Given the description of an element on the screen output the (x, y) to click on. 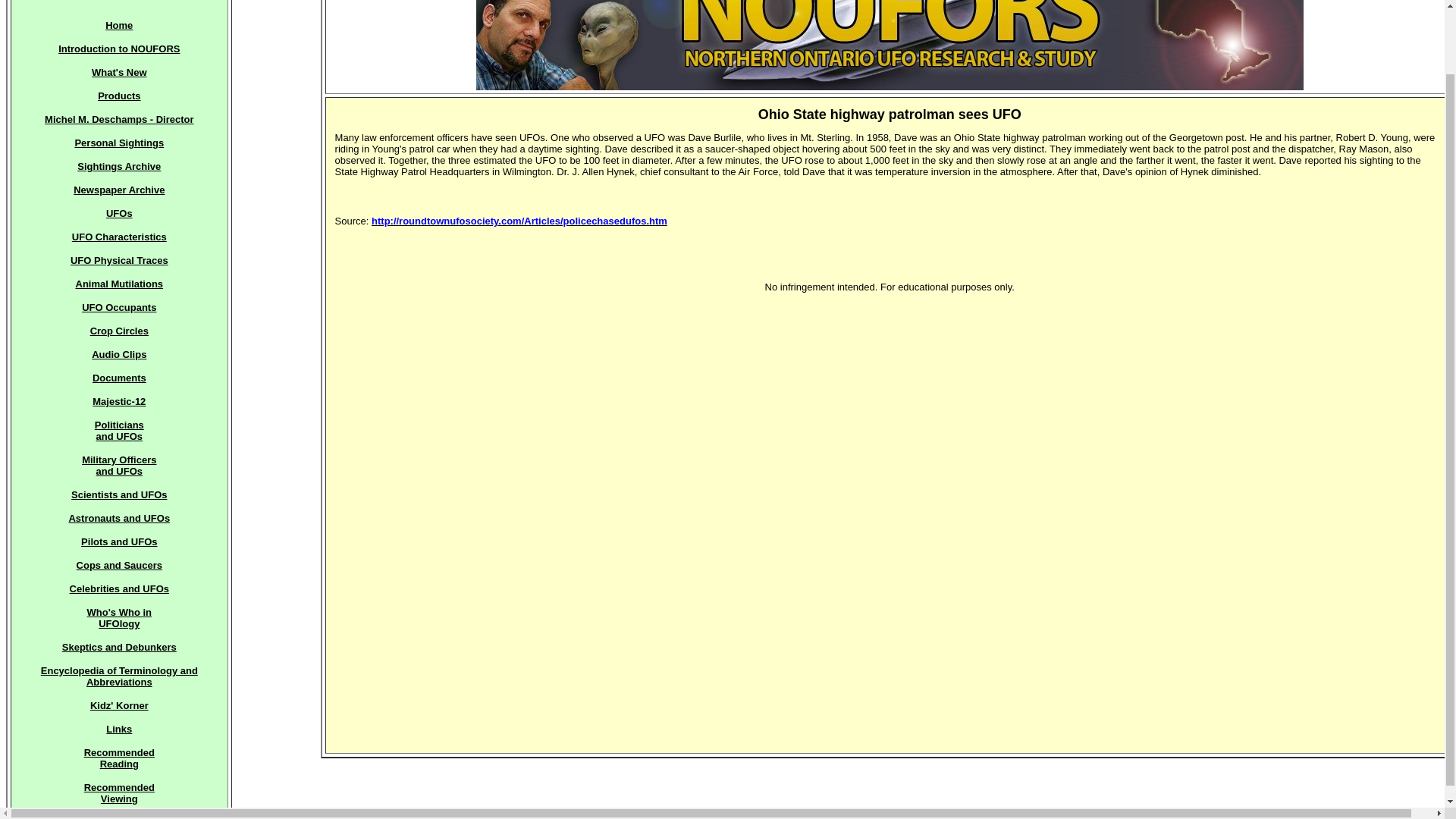
Encyclopedia of Terminology and Abbreviations (119, 793)
Home (119, 676)
Celebrities and UFOs (118, 24)
UFO Occupants (119, 617)
UFO Characteristics (118, 588)
UFOs (118, 307)
Personal Sightings (119, 236)
Documents (119, 213)
